Given the description of an element on the screen output the (x, y) to click on. 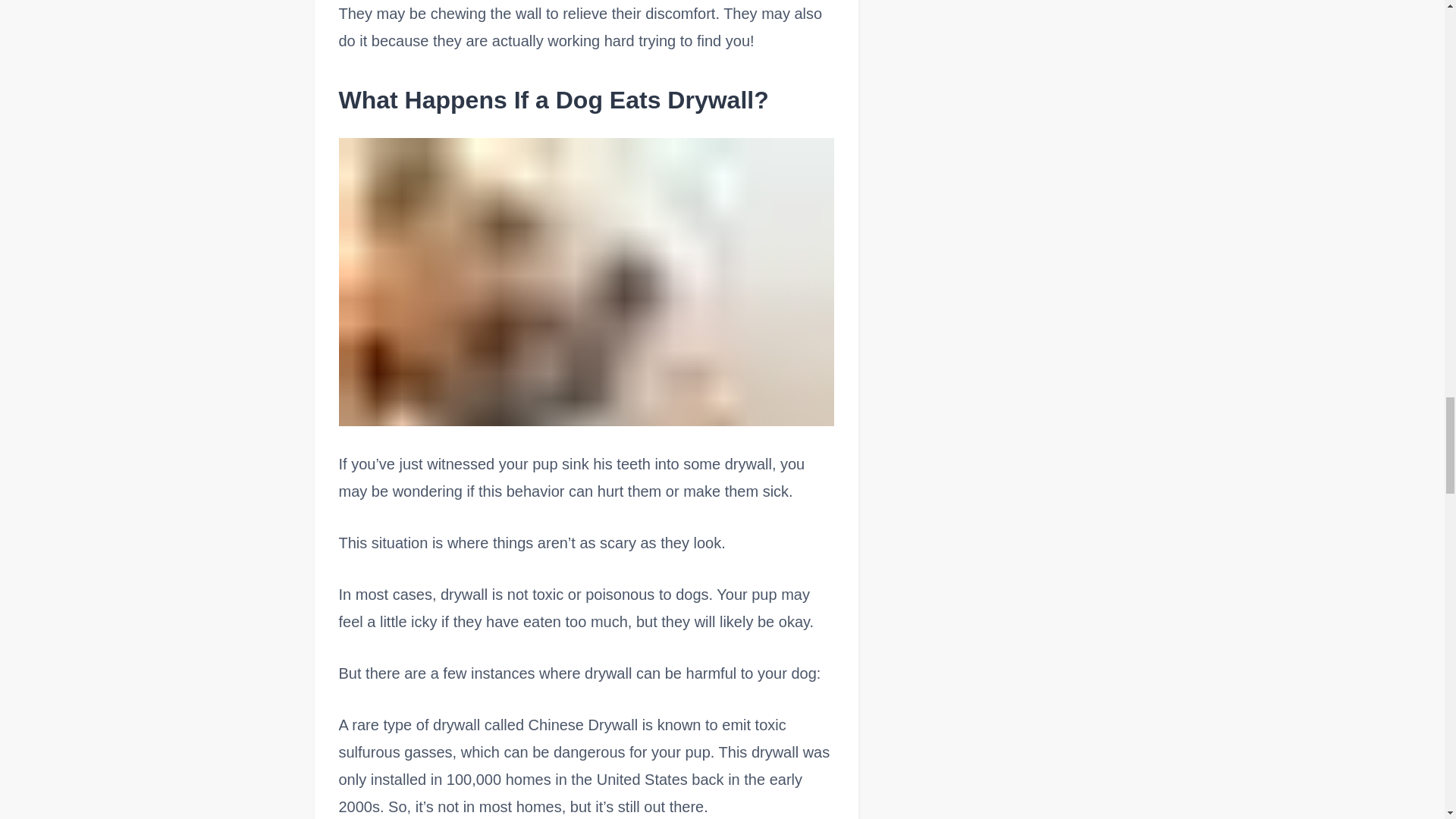
What Happens If a Dog Eats Drywall? (584, 100)
